Given the description of an element on the screen output the (x, y) to click on. 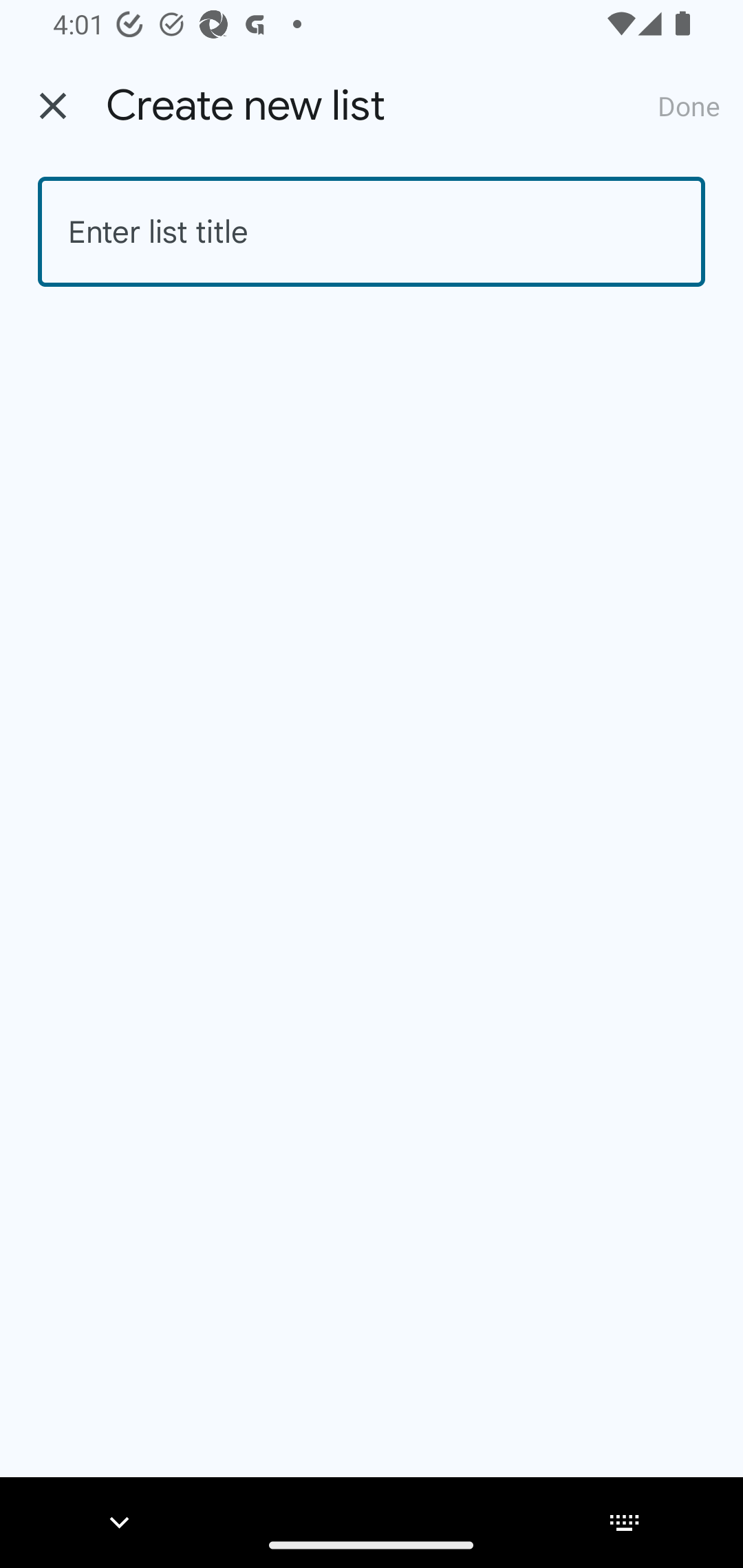
Back (53, 105)
Done (689, 105)
Enter list title (371, 231)
